Given the description of an element on the screen output the (x, y) to click on. 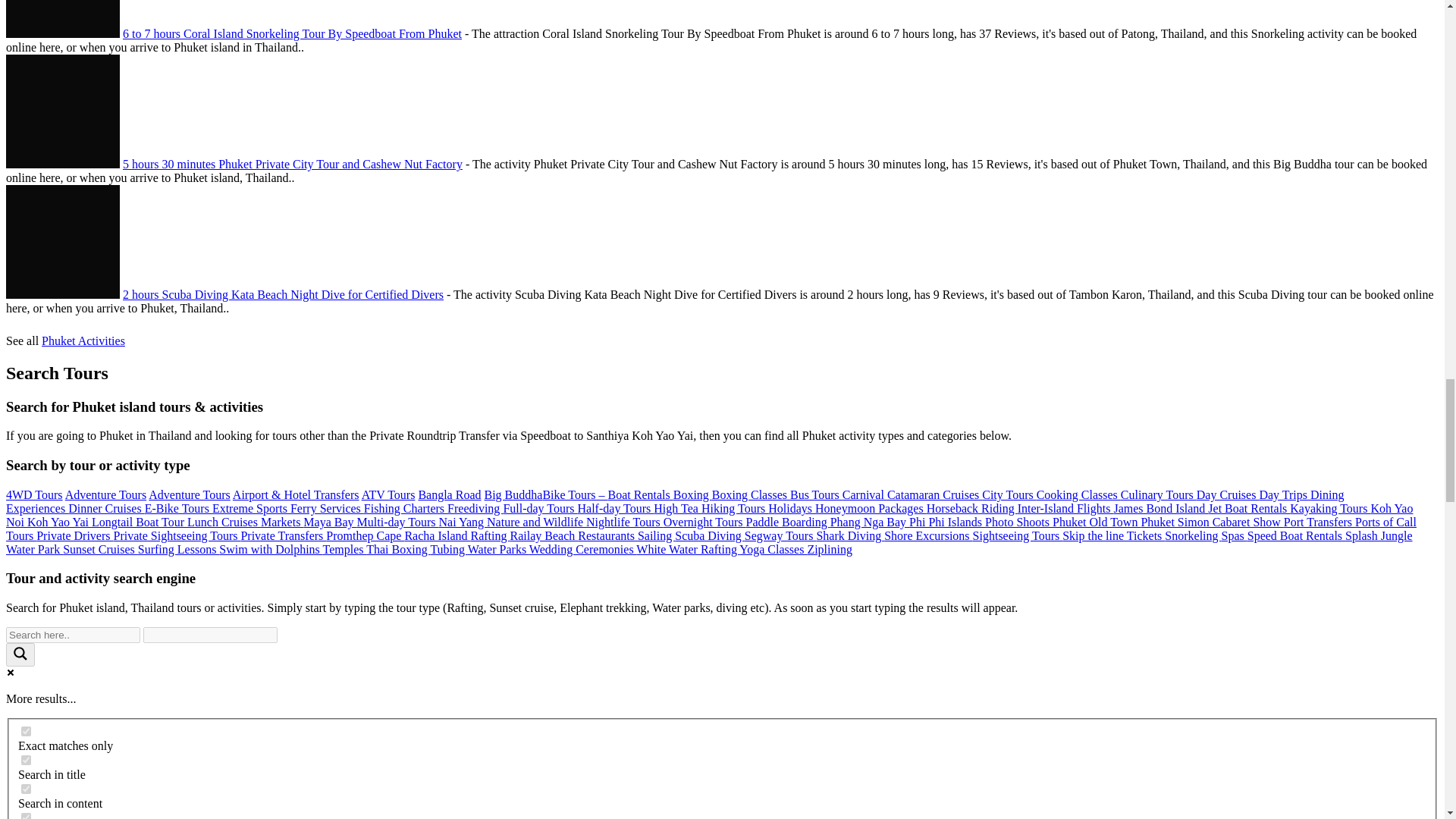
exact (25, 731)
title (25, 759)
excerpt (25, 816)
Phuket Private City Tour and Cashew Nut Factory - Big Buddha (62, 111)
content (25, 788)
